Given the description of an element on the screen output the (x, y) to click on. 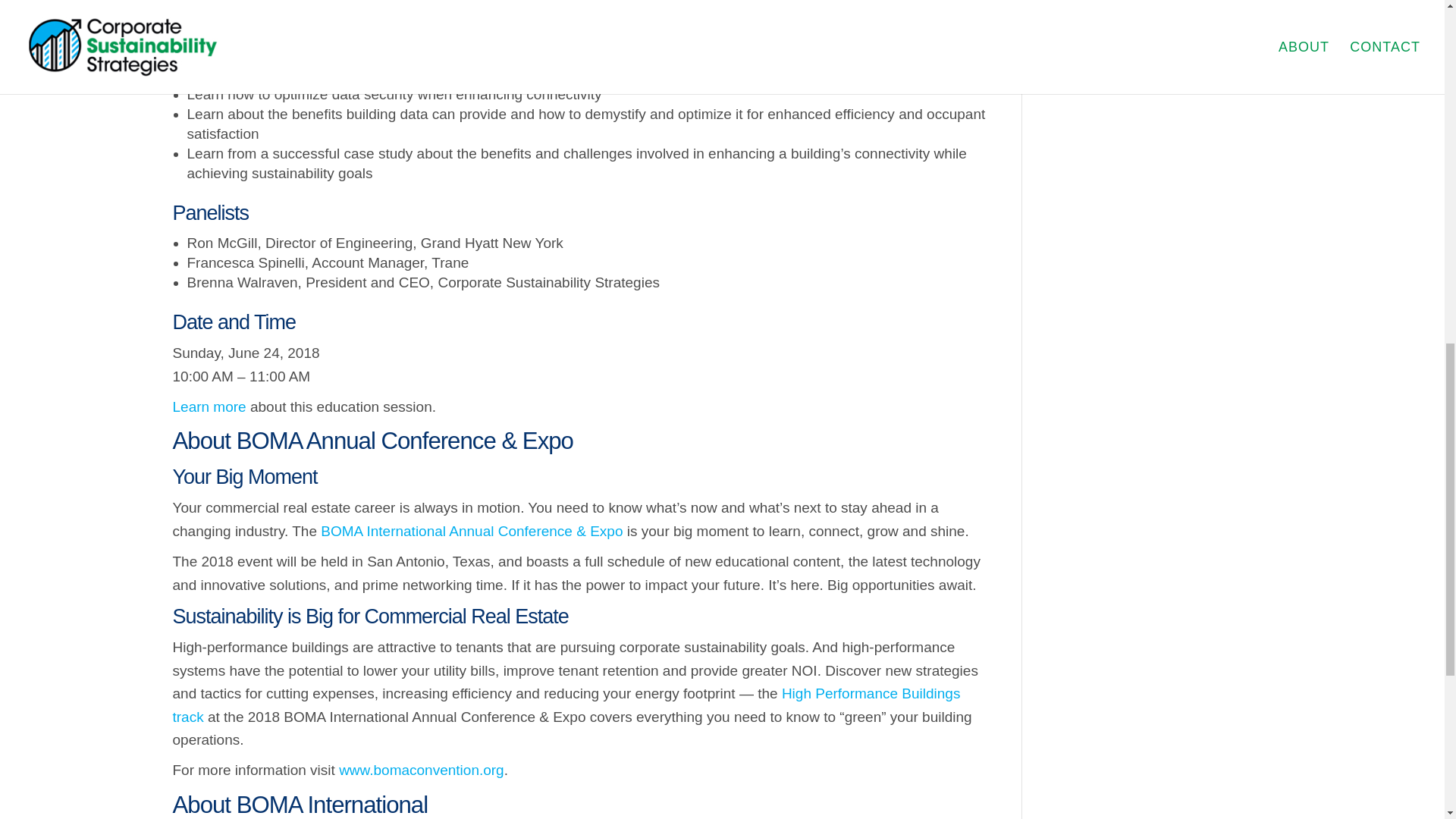
High Performance Buildings track  (566, 704)
www.bomaconvention.org (421, 770)
Learn more (209, 406)
